Given the description of an element on the screen output the (x, y) to click on. 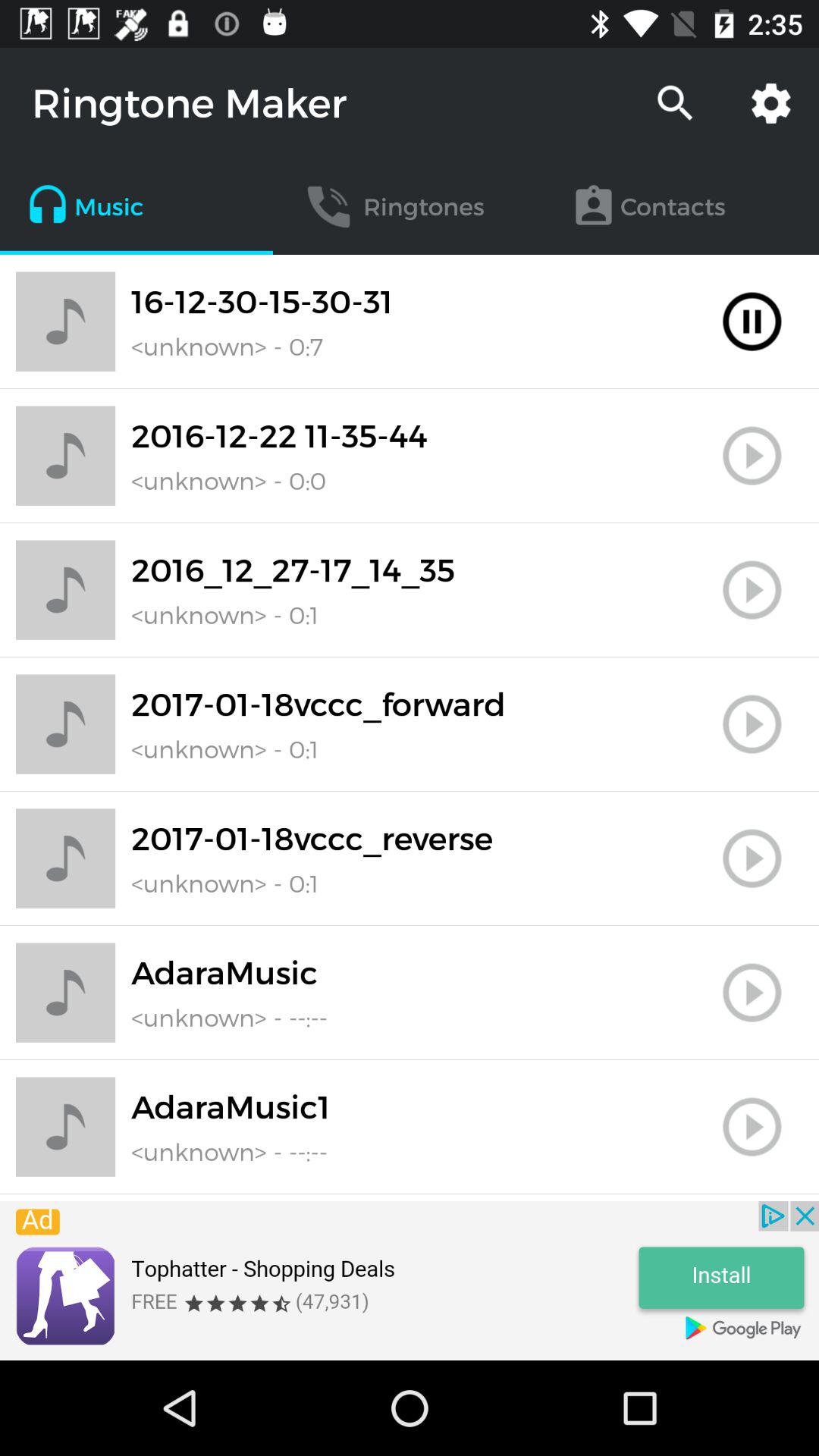
play button for ringtone (752, 455)
